Given the description of an element on the screen output the (x, y) to click on. 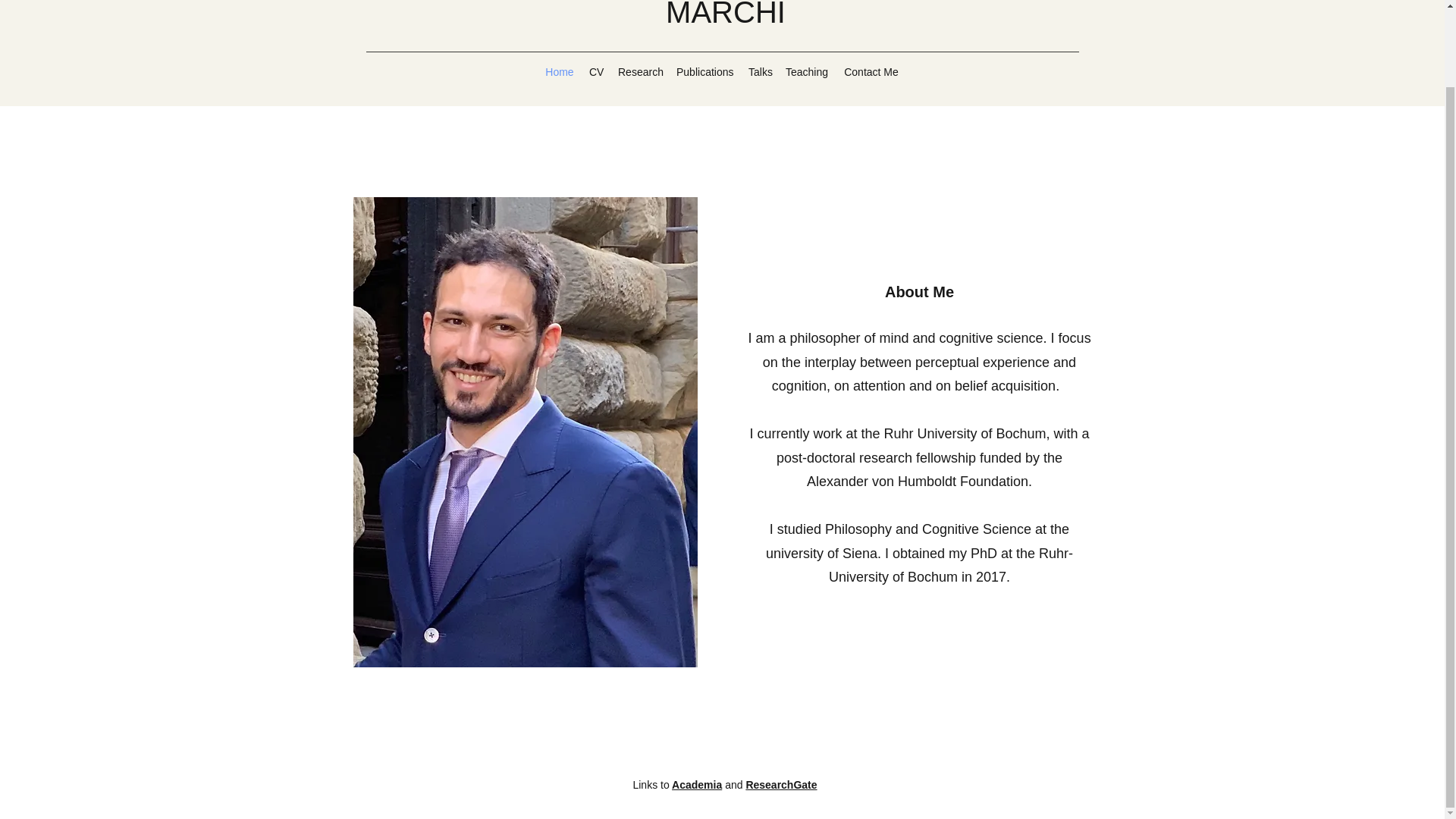
Academia (696, 784)
ResearchGate (780, 784)
CV (595, 71)
Talks (759, 71)
Publications (704, 71)
FRANCESCO MARCHI (725, 14)
Contact Me (871, 71)
Home (558, 71)
Research (639, 71)
Teaching (806, 71)
